Given the description of an element on the screen output the (x, y) to click on. 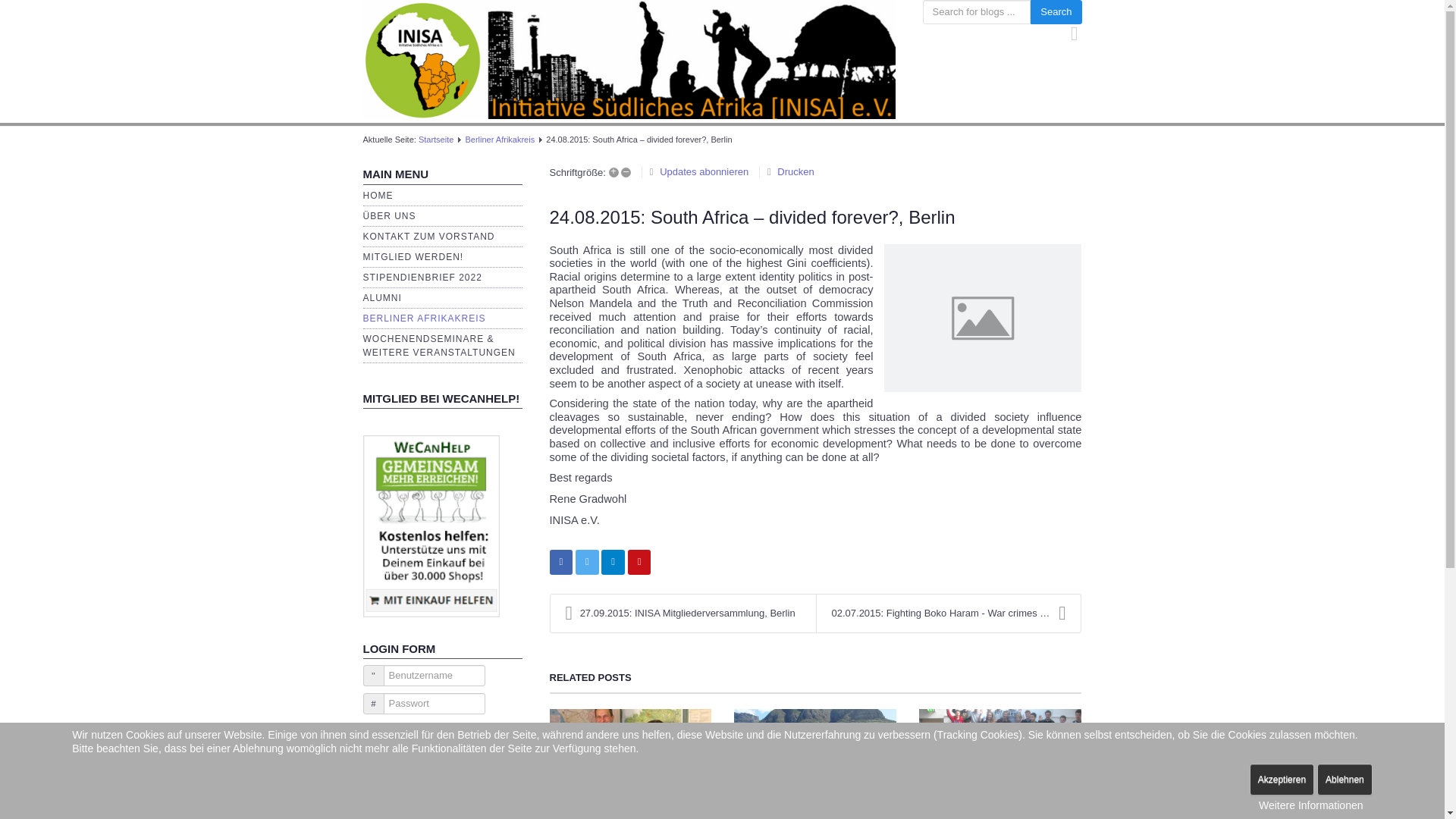
Drucken (795, 171)
Updates abonnieren (703, 171)
Anmelden (394, 752)
INISA Stipendiat 2008: Thulani Fakude (609, 812)
MITGLIED WERDEN! (412, 256)
Drucken (795, 171)
Update 2014: A Letter from Min'enhle Ncube (806, 812)
Startseite (435, 139)
Benutzername vergessen? (421, 790)
Passwort vergessen? (409, 803)
KONTAKT ZUM VORSTAND (428, 235)
HOME (377, 195)
STIPENDIENBRIEF 2022 (421, 276)
27.09.2015: INISA Mitgliederversammlung, Berlin (682, 613)
yes (367, 728)
